Given the description of an element on the screen output the (x, y) to click on. 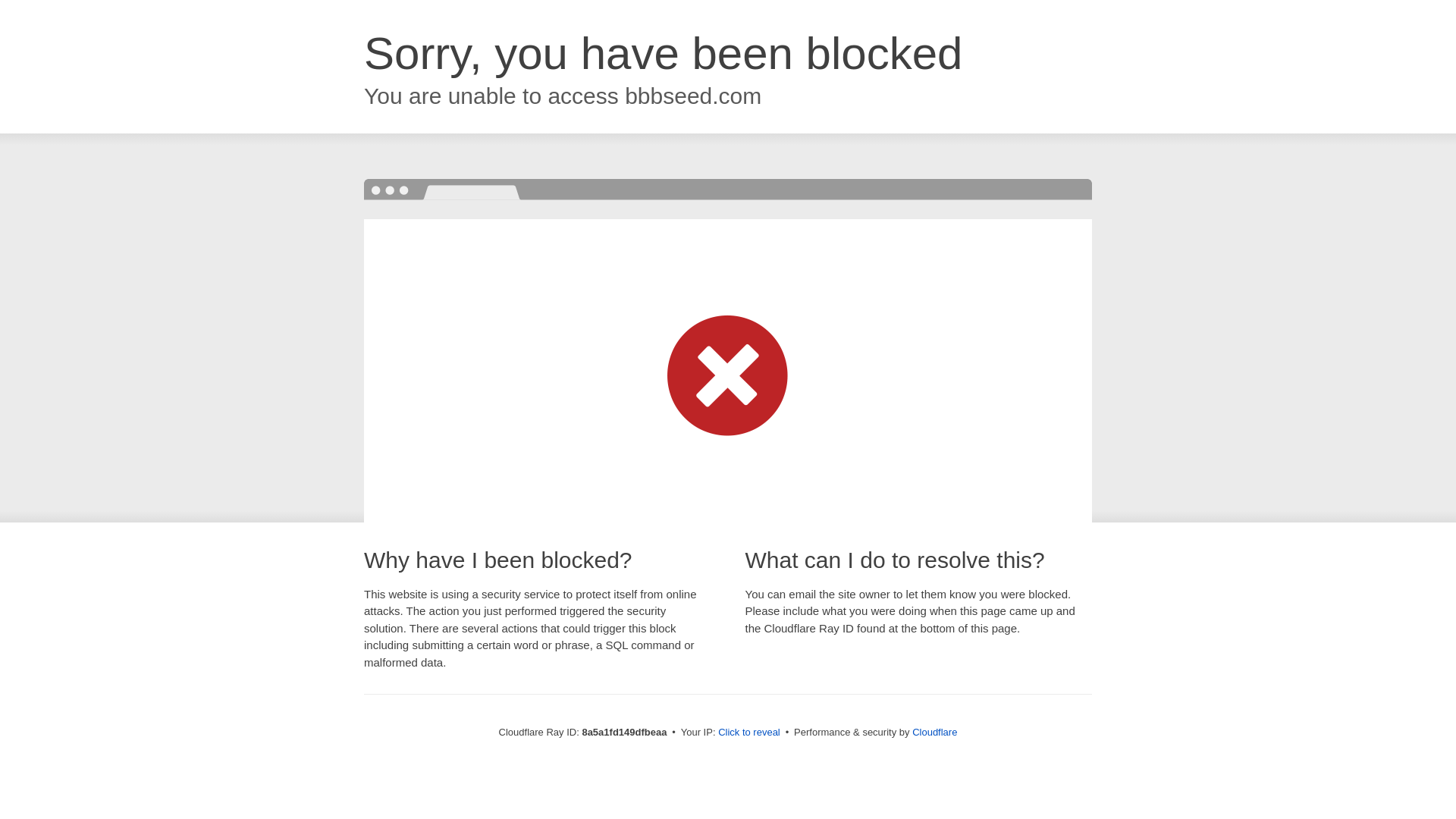
Click to reveal (748, 732)
Cloudflare (934, 731)
